Given the description of an element on the screen output the (x, y) to click on. 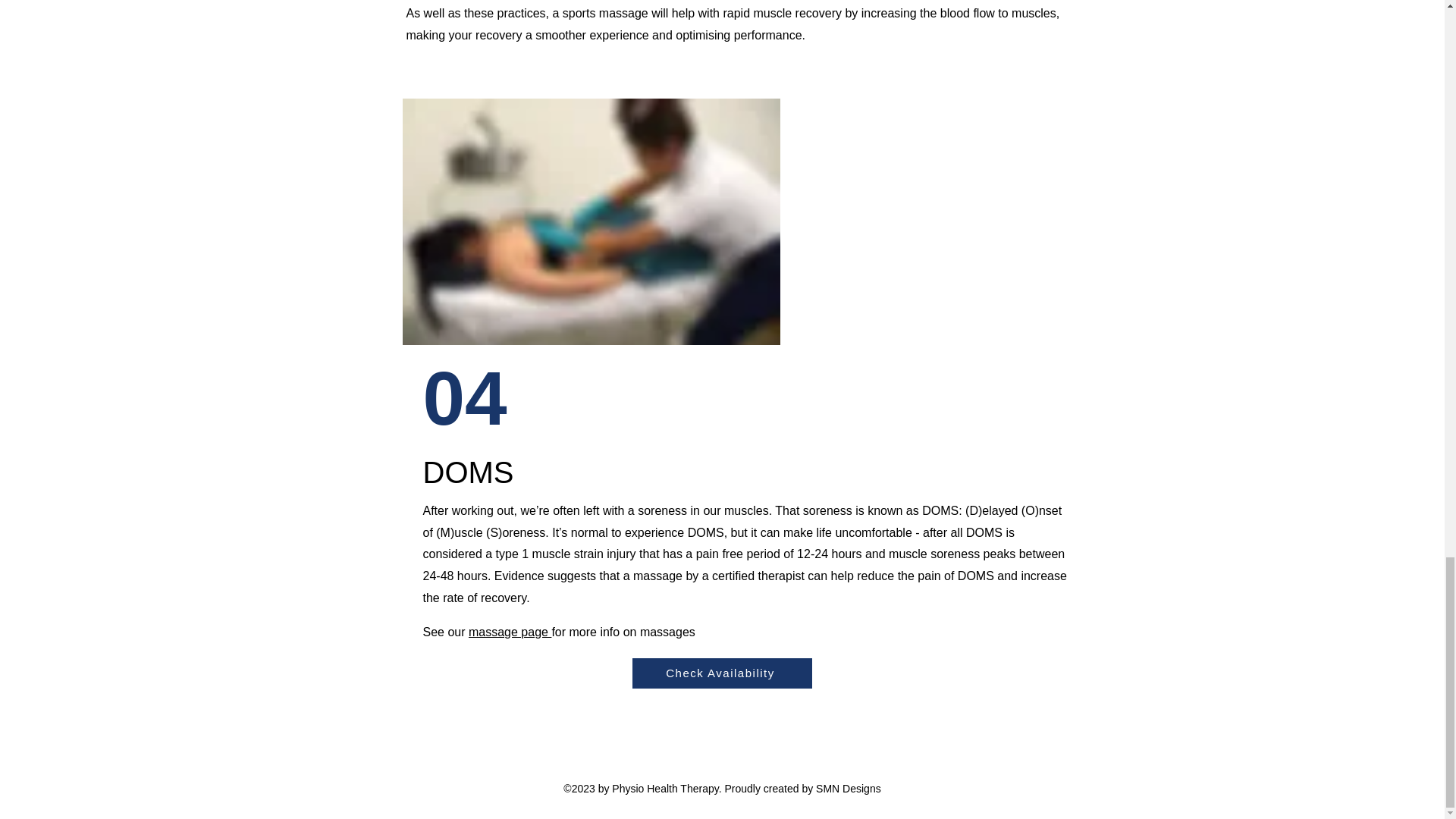
See our (445, 631)
for more info on massages  (624, 631)
Check Availability (721, 673)
massage page (509, 631)
